Given the description of an element on the screen output the (x, y) to click on. 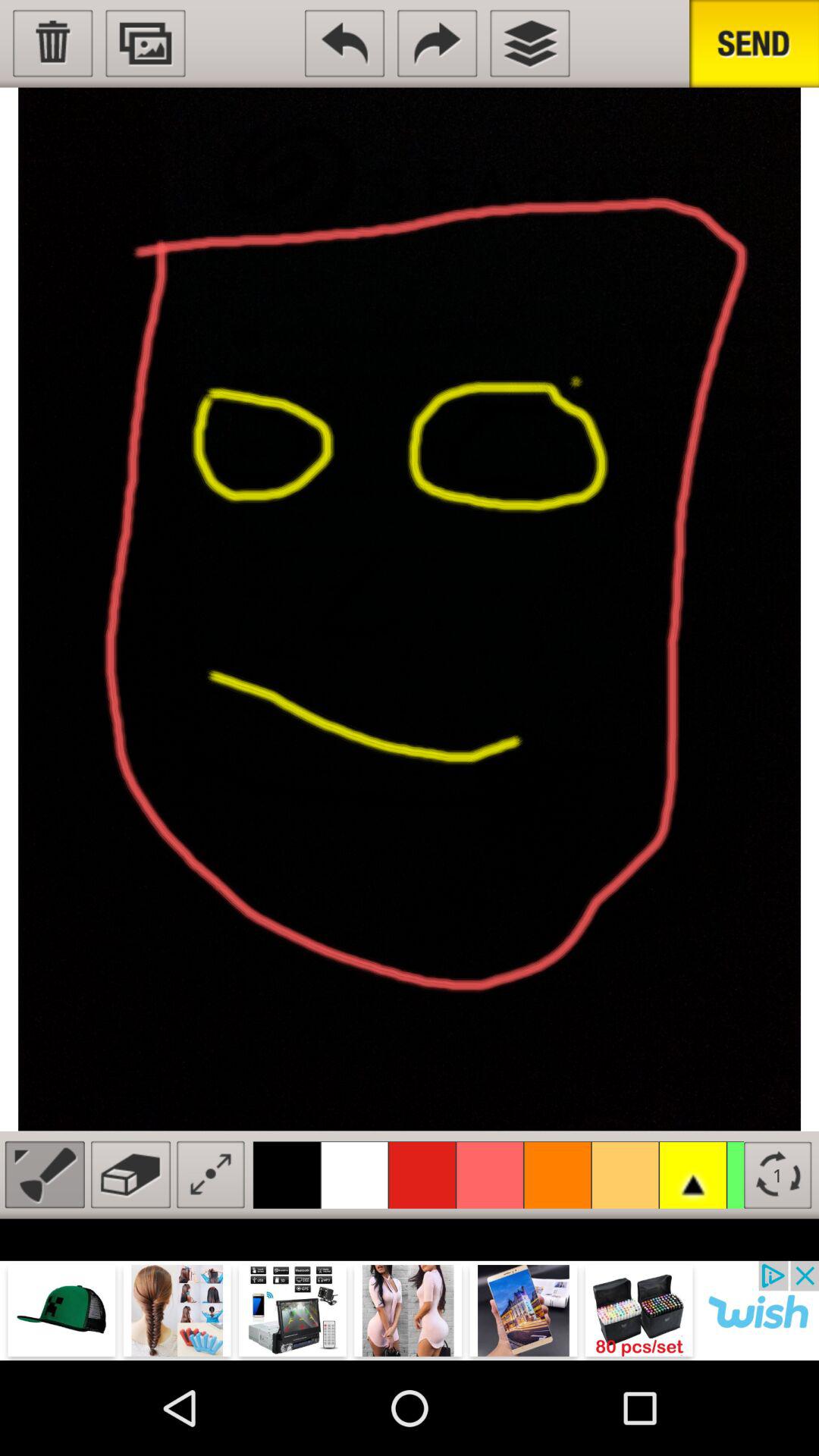
select image (145, 43)
